Given the description of an element on the screen output the (x, y) to click on. 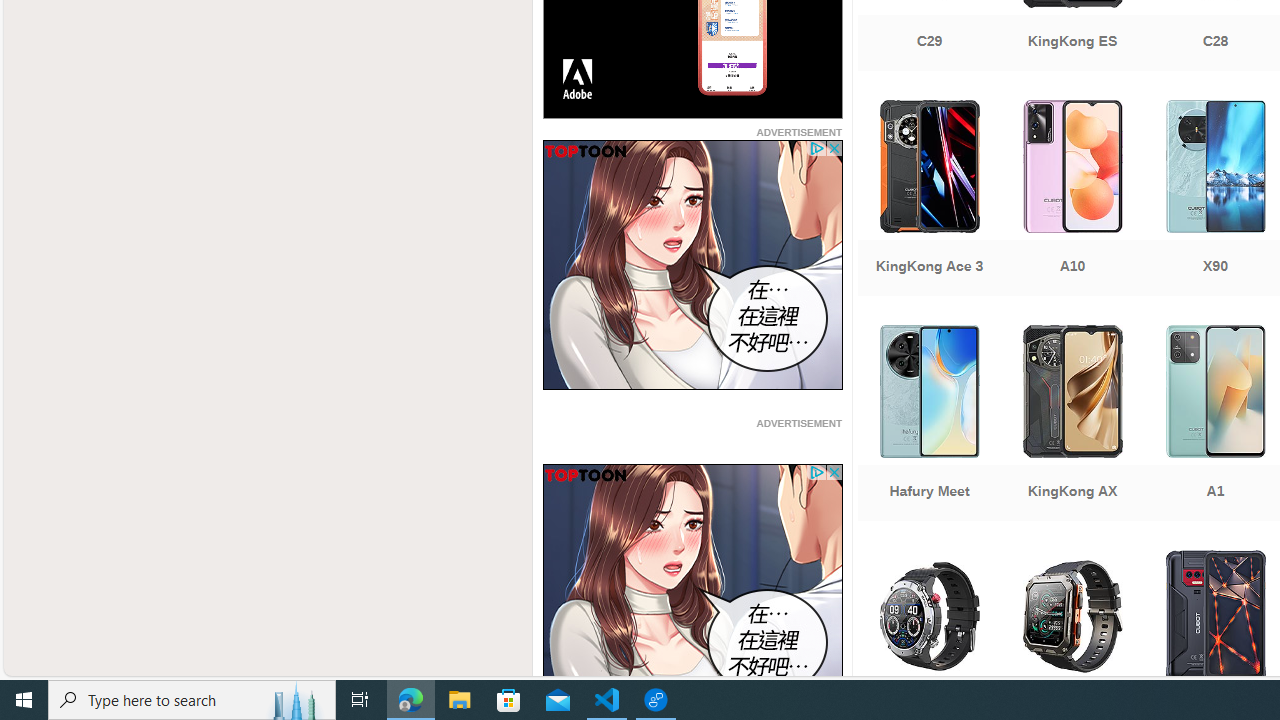
AutomationID: close_button_svg (833, 472)
To get missing image descriptions, open the context menu. (692, 588)
KingKong Ace 3 (928, 200)
